Given the description of an element on the screen output the (x, y) to click on. 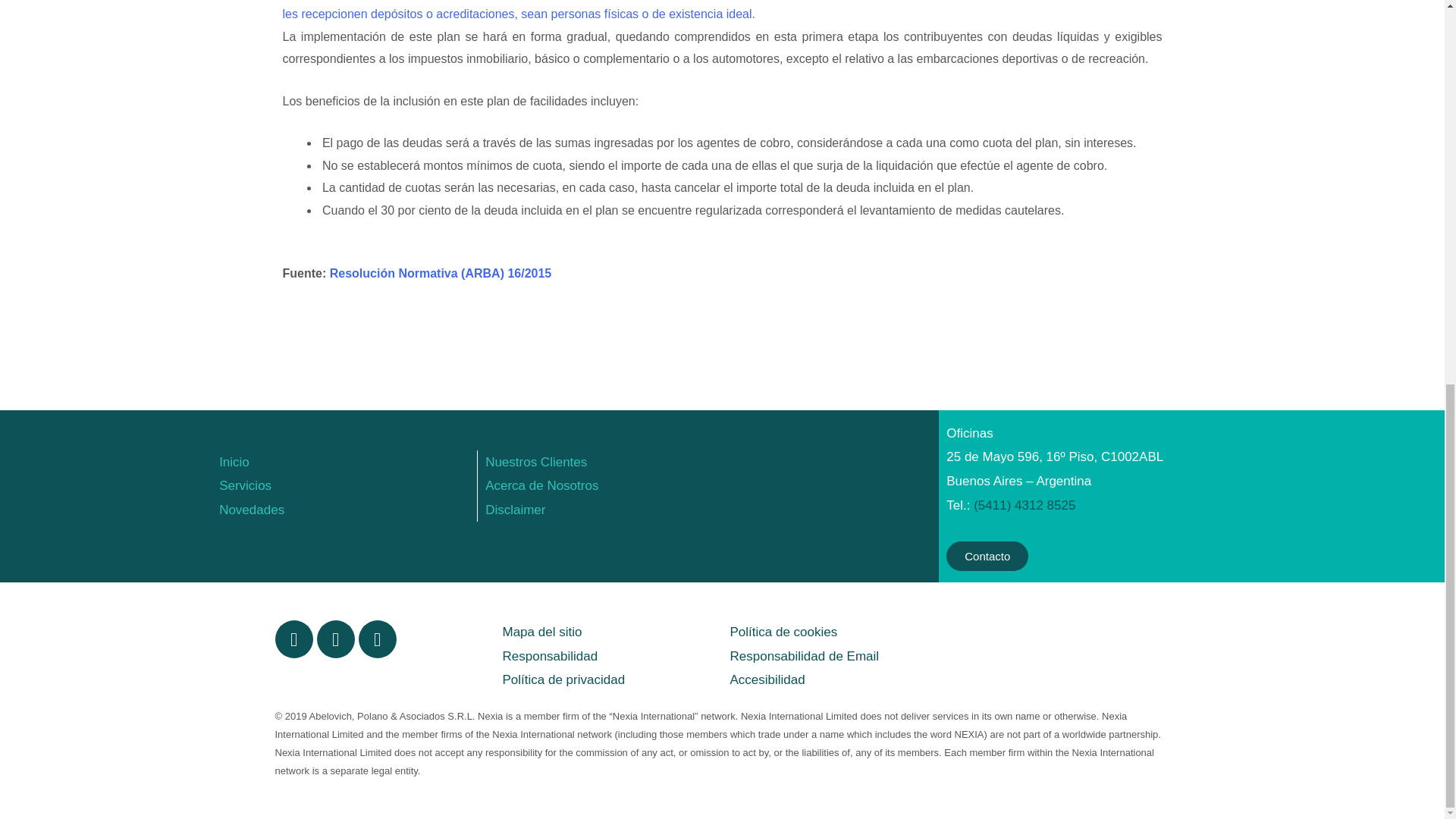
Inicio (233, 462)
Acerca de Nosotros (541, 485)
Novedades (251, 509)
Servicios (244, 485)
Disclaimer (514, 509)
Nuestros Clientes (535, 462)
Contacto (986, 555)
